Given the description of an element on the screen output the (x, y) to click on. 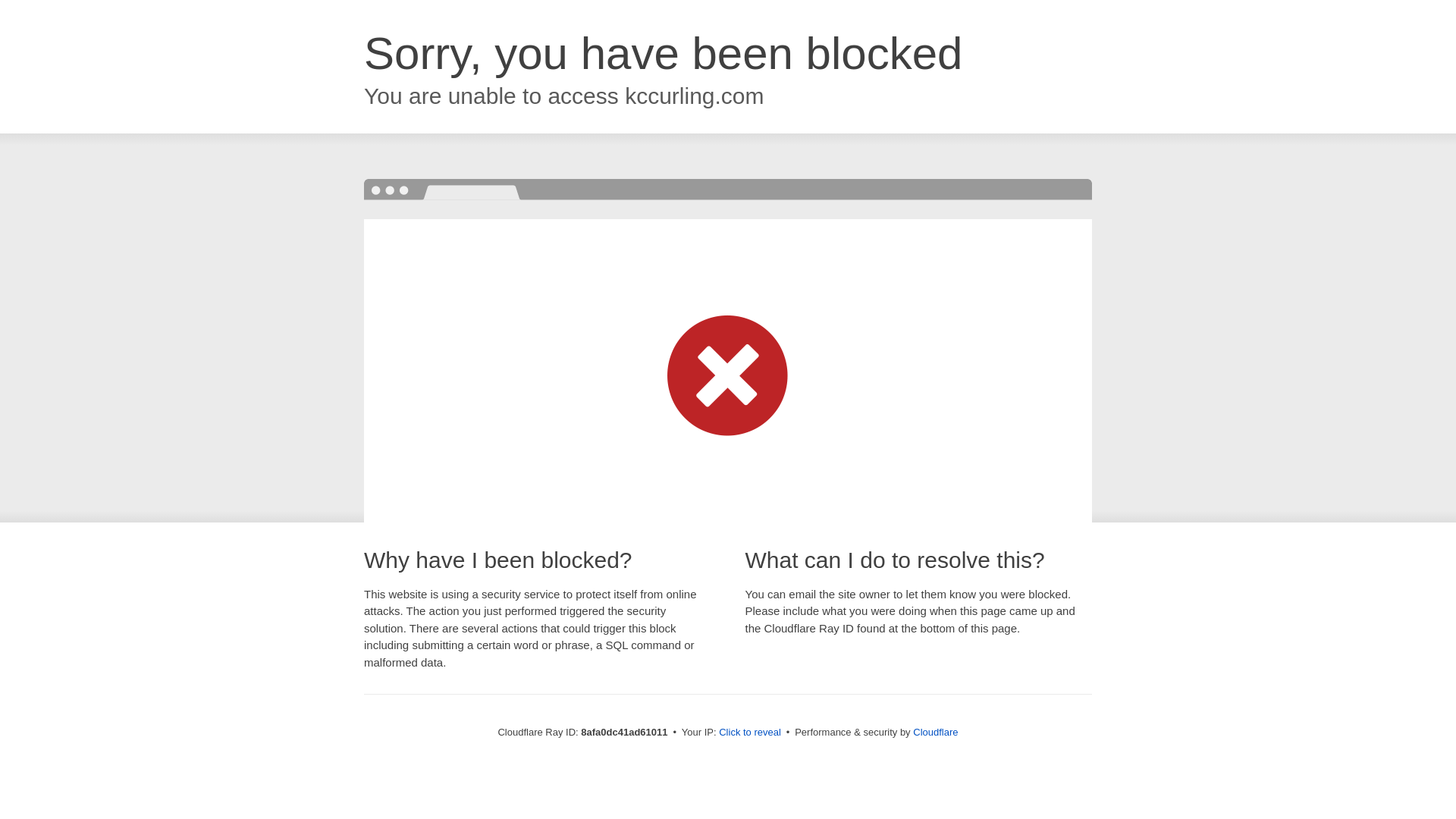
Click to reveal (749, 732)
Cloudflare (935, 731)
